Given the description of an element on the screen output the (x, y) to click on. 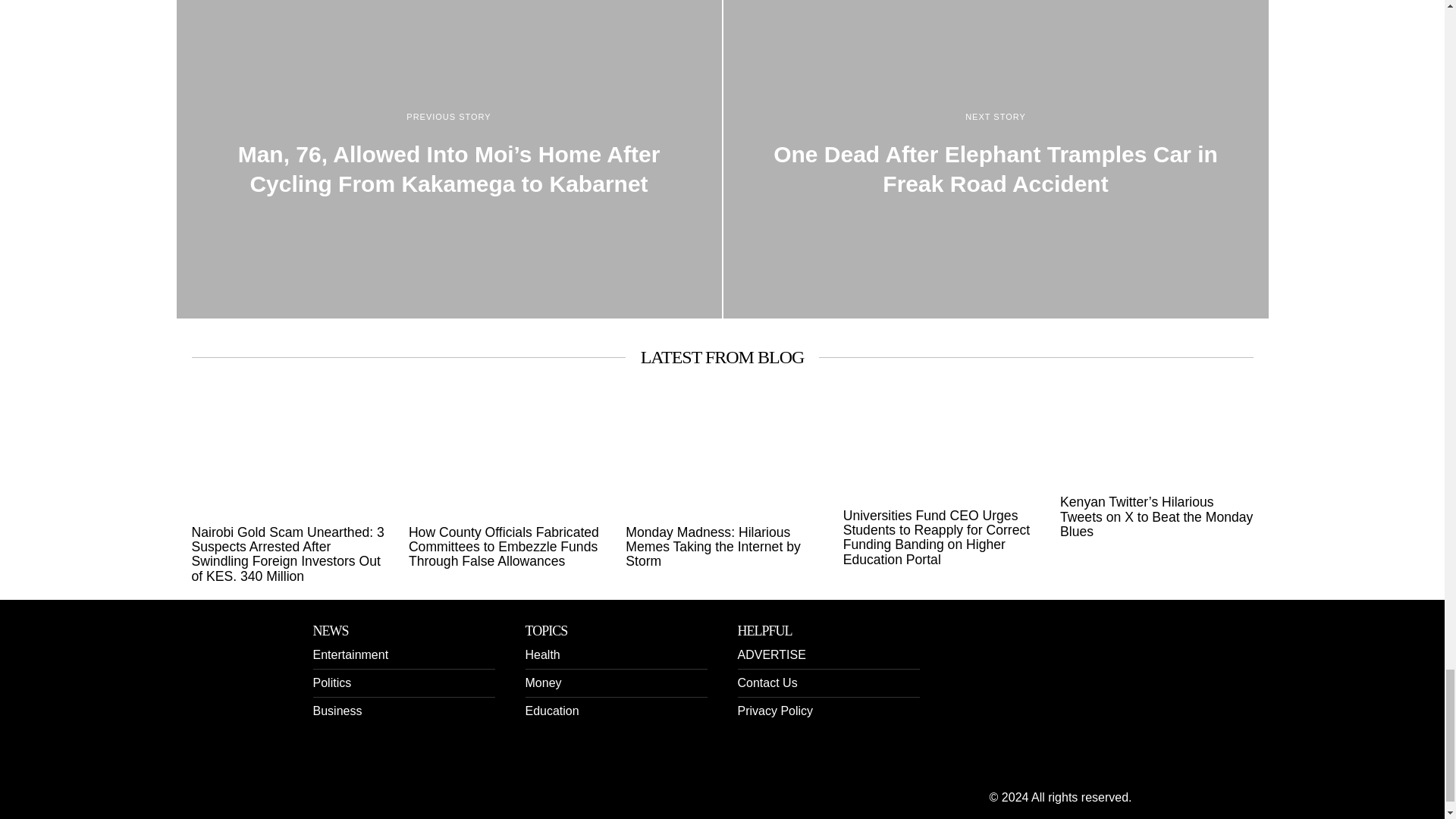
Health (541, 654)
Politics (331, 682)
Monday Madness: Hilarious Memes Taking the Internet by Storm (722, 547)
Business (337, 710)
Entertainment (350, 654)
